Given the description of an element on the screen output the (x, y) to click on. 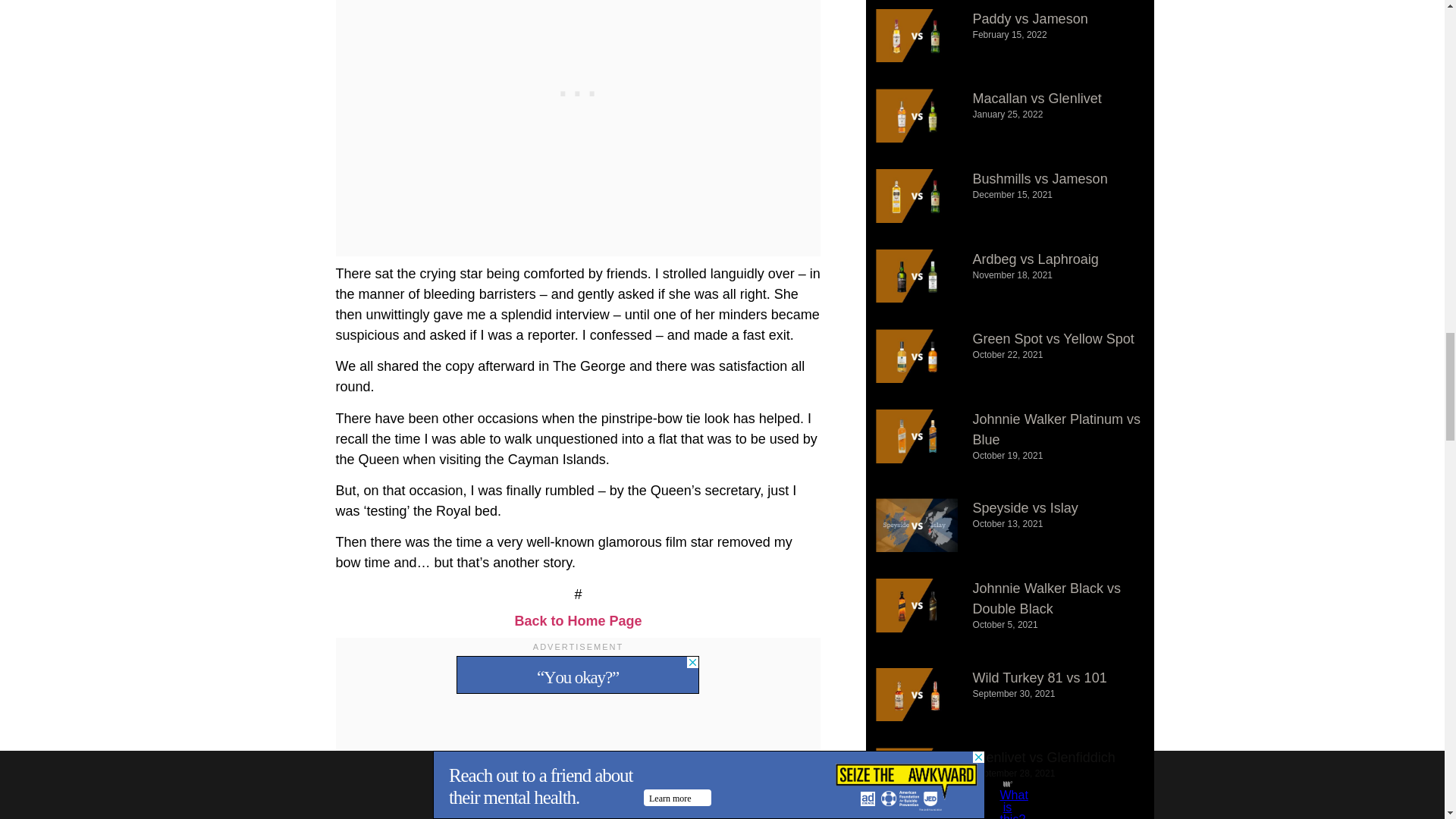
Back to Home Page (577, 620)
3rd party ad content (577, 674)
